Given the description of an element on the screen output the (x, y) to click on. 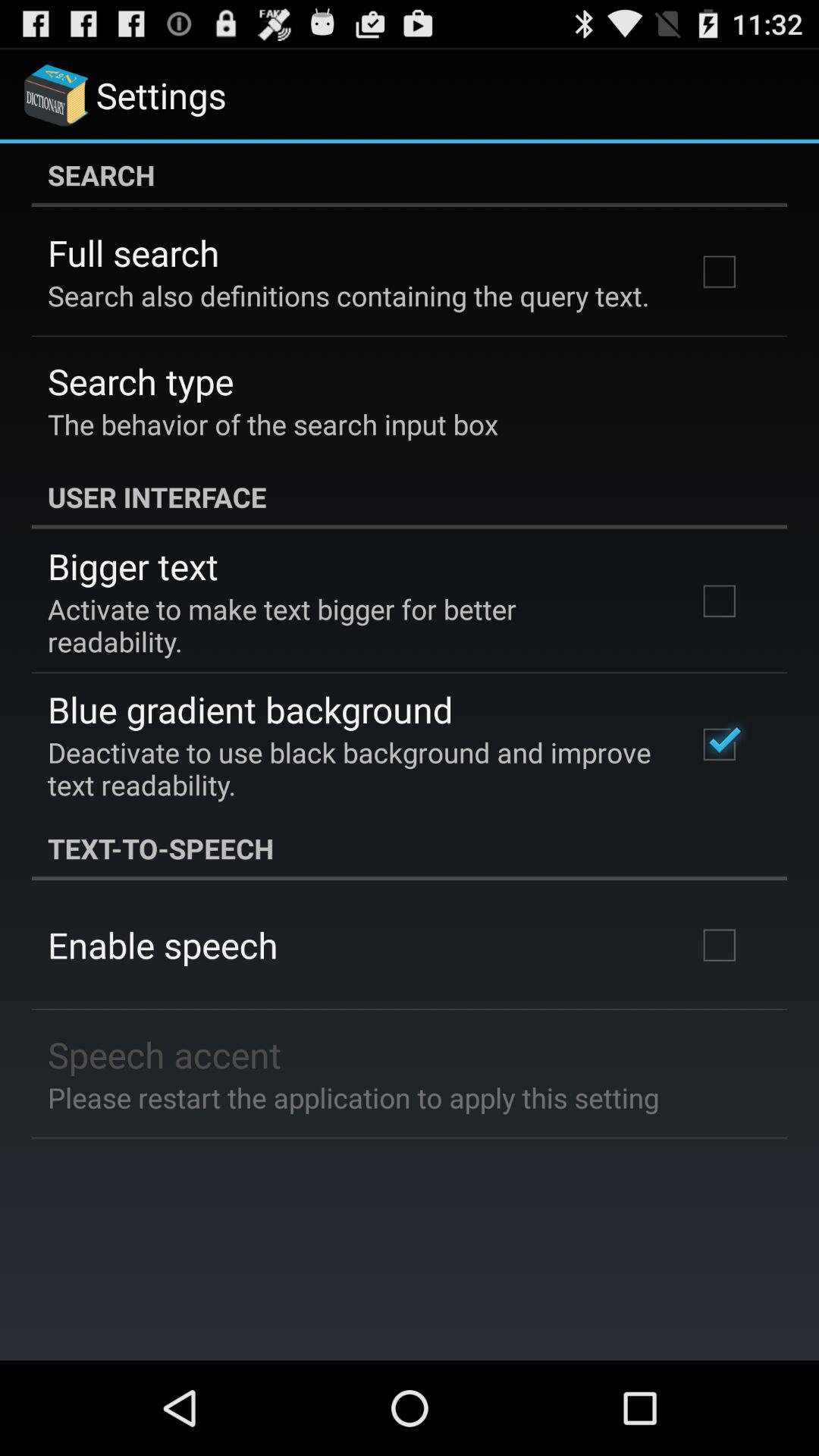
choose the item above please restart the app (164, 1054)
